Given the description of an element on the screen output the (x, y) to click on. 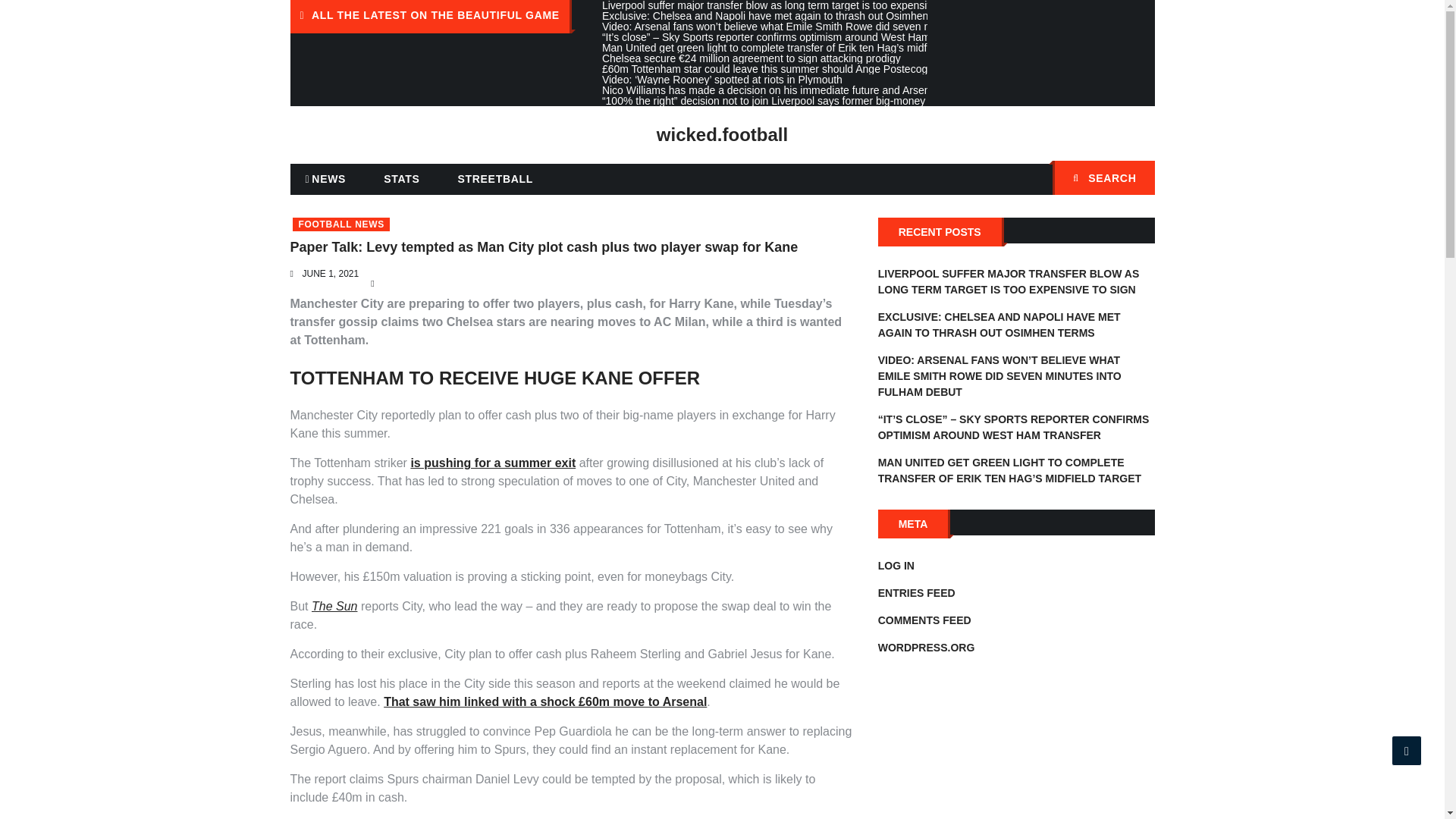
is pushing for a summer exit (492, 462)
Search (1135, 178)
FOOTBALL NEWS (341, 223)
Go to Top (1406, 750)
Search (1135, 178)
Search (1135, 178)
STATS (400, 178)
The Sun (333, 605)
SEARCH (1103, 177)
